Given the description of an element on the screen output the (x, y) to click on. 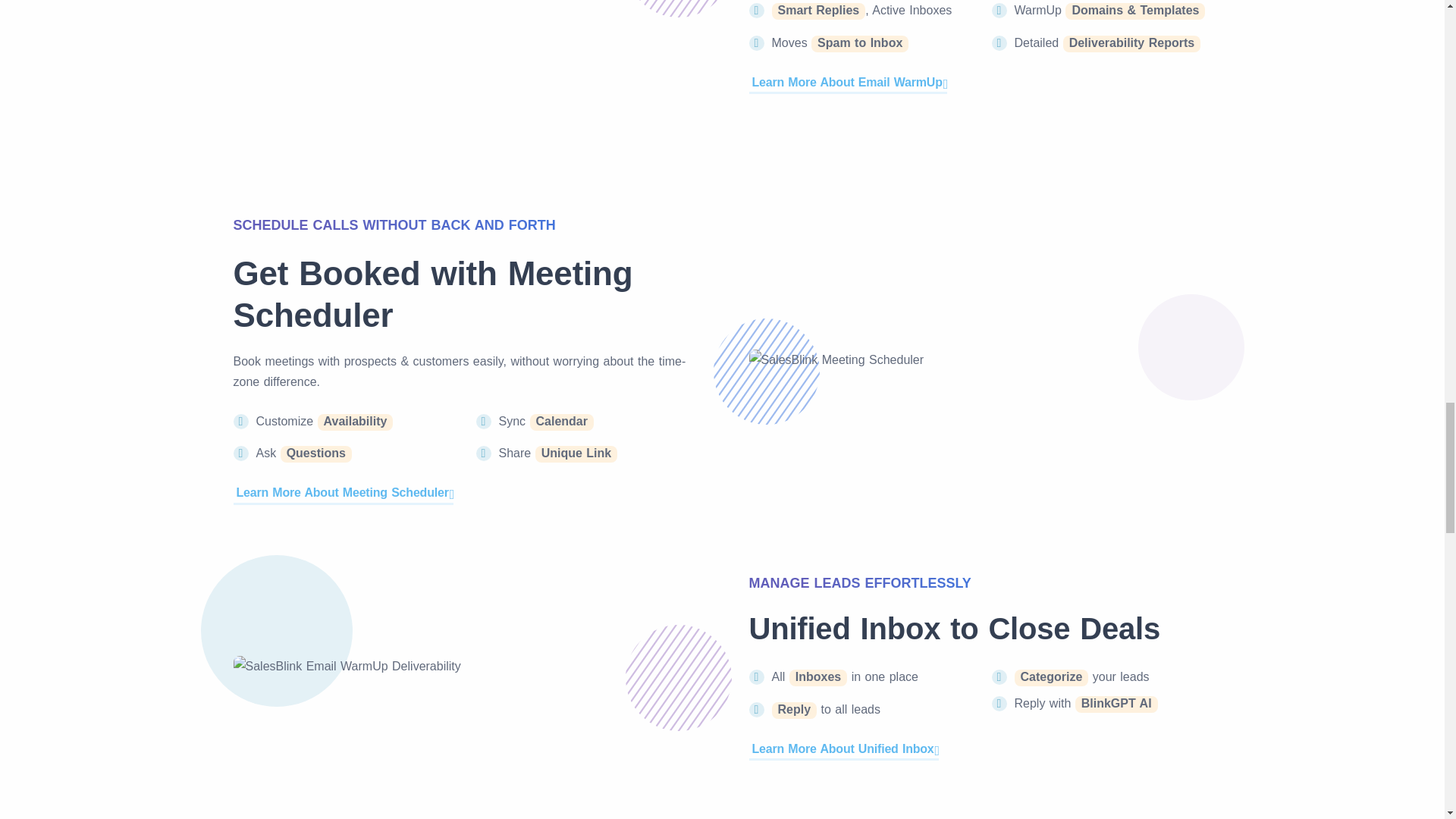
Learn More About Email WarmUp (848, 82)
SalesBlink Meeting Scheduler (836, 359)
Learn More About Meeting Scheduler (343, 492)
SalesBlink Email WarmUp Deliverability (346, 666)
Learn More About Unified Inbox (844, 749)
